Given the description of an element on the screen output the (x, y) to click on. 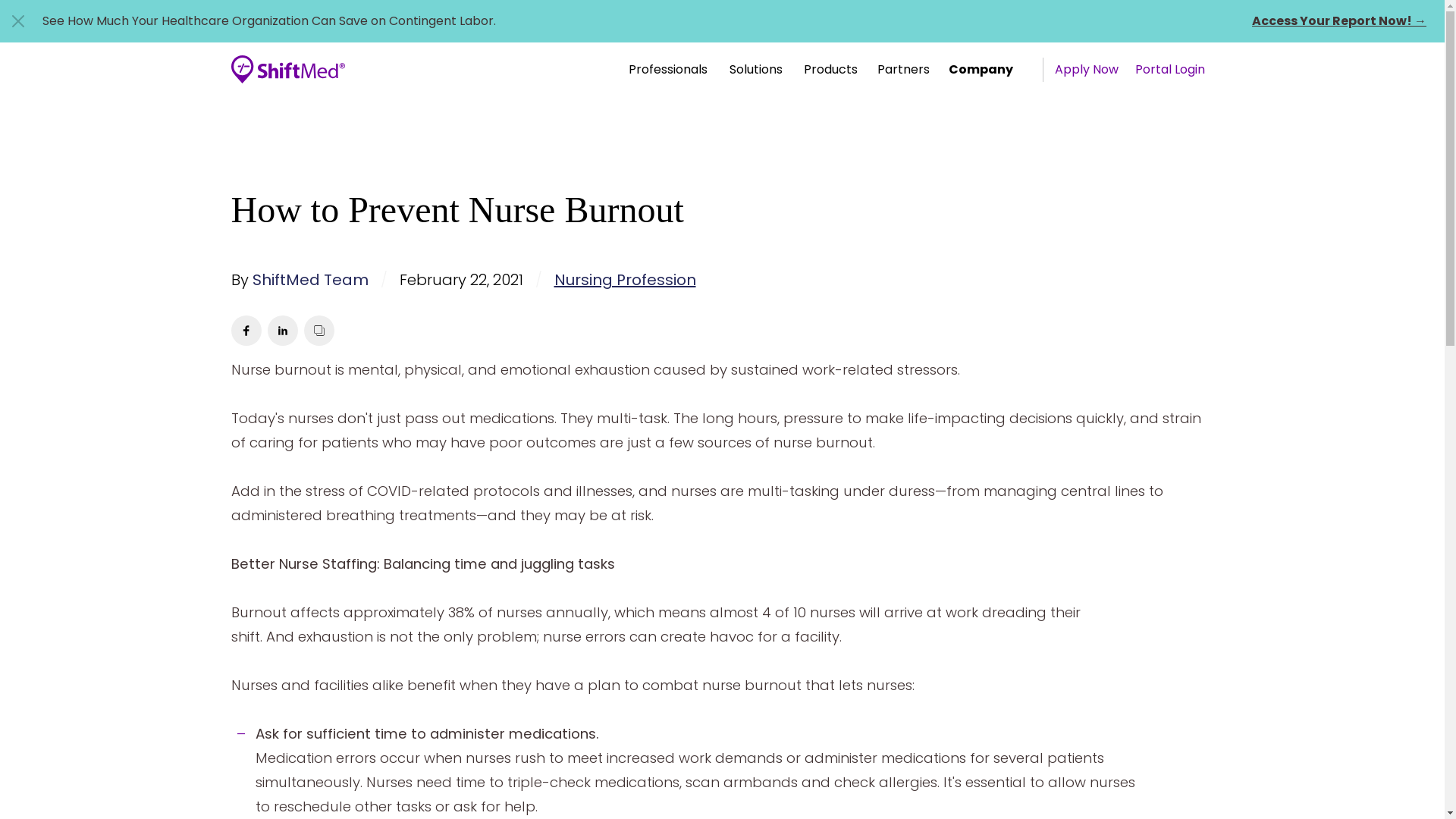
Partners (903, 69)
Apply Now (1086, 69)
Professionals (668, 69)
Portal Login (1170, 69)
See all our Nursing Profession posts (624, 279)
Company (980, 69)
Solutions (756, 69)
Products (830, 69)
Nursing Profession (624, 279)
